Given the description of an element on the screen output the (x, y) to click on. 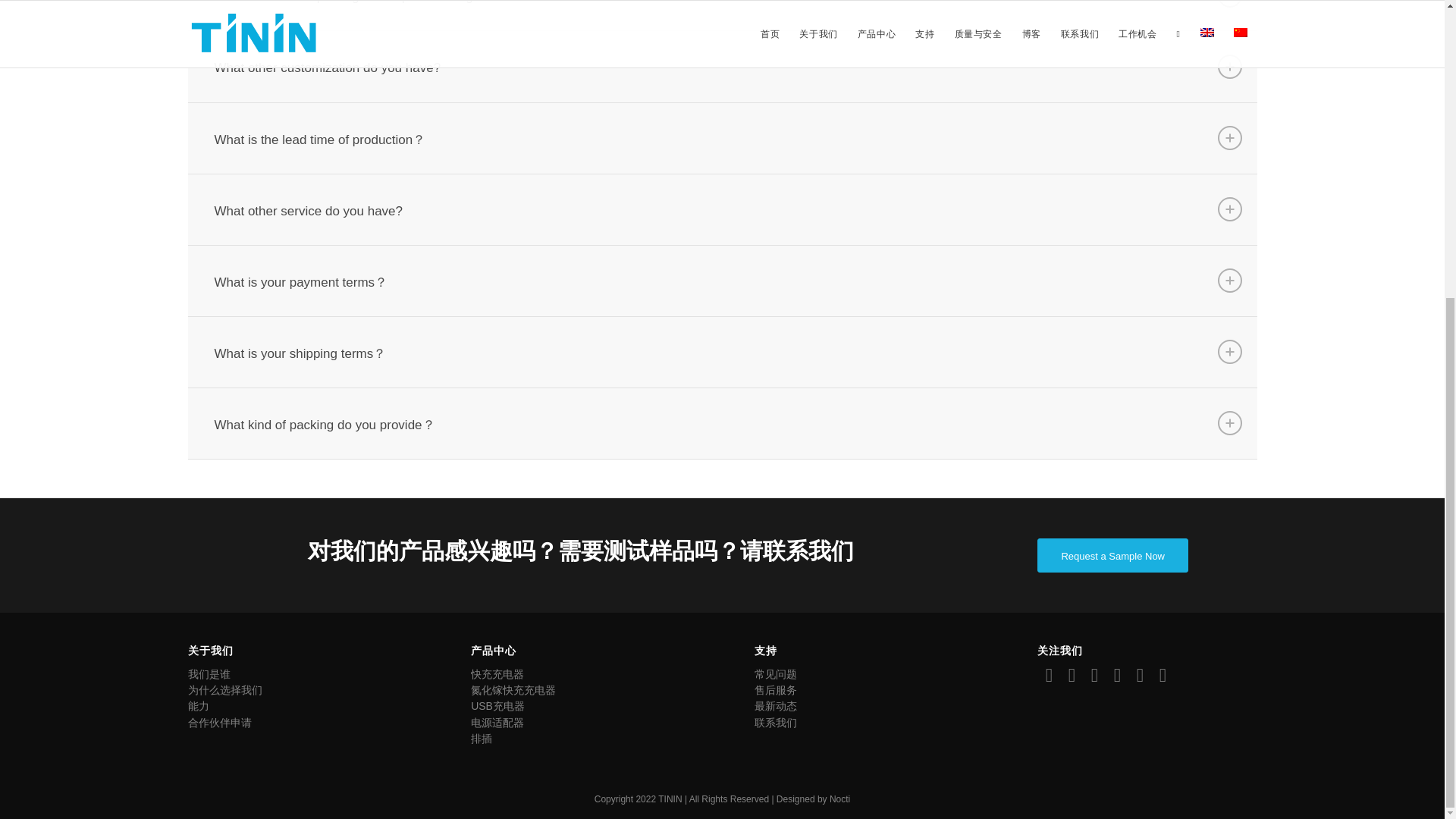
Youtube (1162, 674)
Pinterest (1116, 674)
Twitter (1071, 674)
Request a Sample Now (1112, 555)
Facebook (1047, 674)
Skype (1139, 674)
Linkedin (1094, 674)
